Given the description of an element on the screen output the (x, y) to click on. 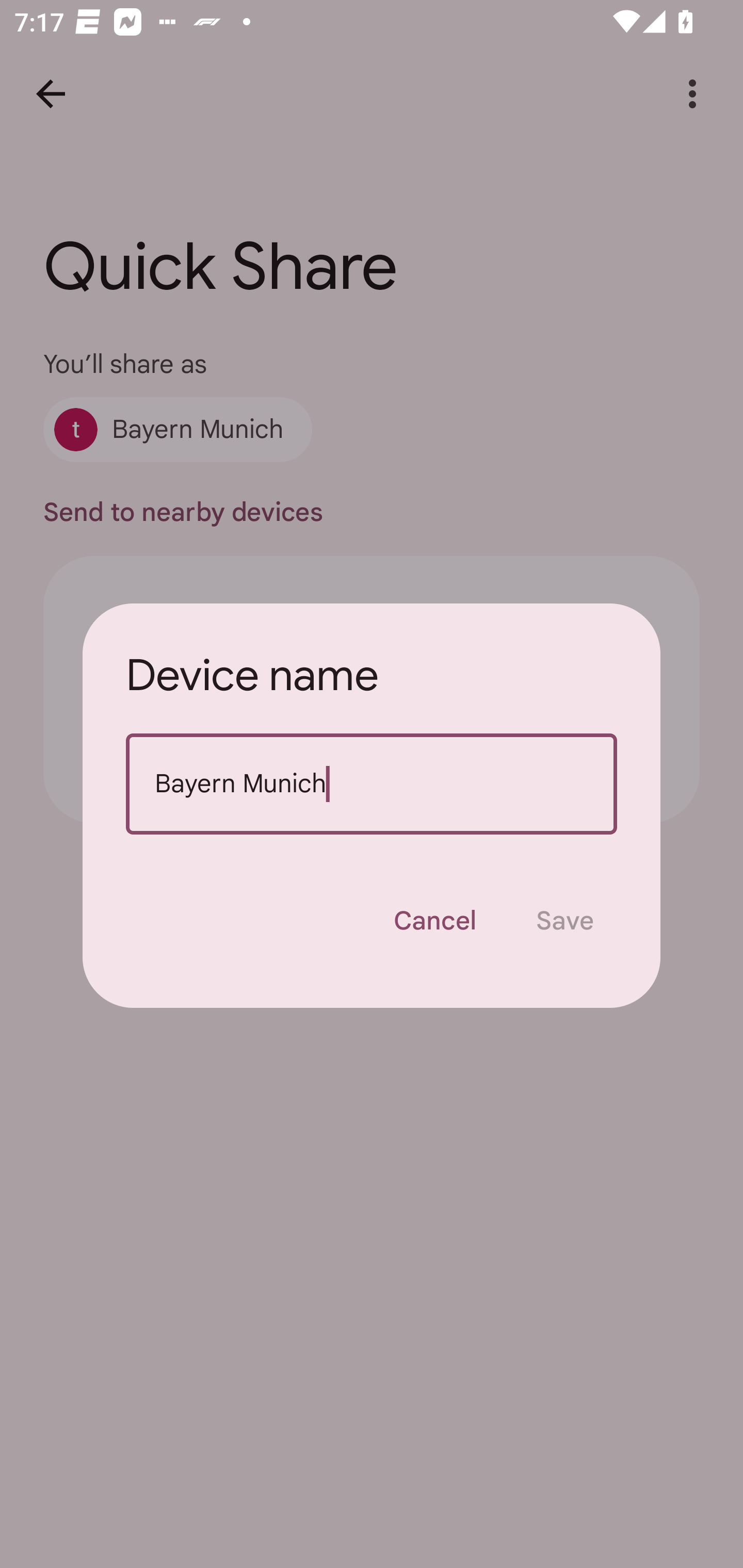
Bayern Munich Device name (371, 783)
Cancel (434, 921)
Save (564, 921)
